Given the description of an element on the screen output the (x, y) to click on. 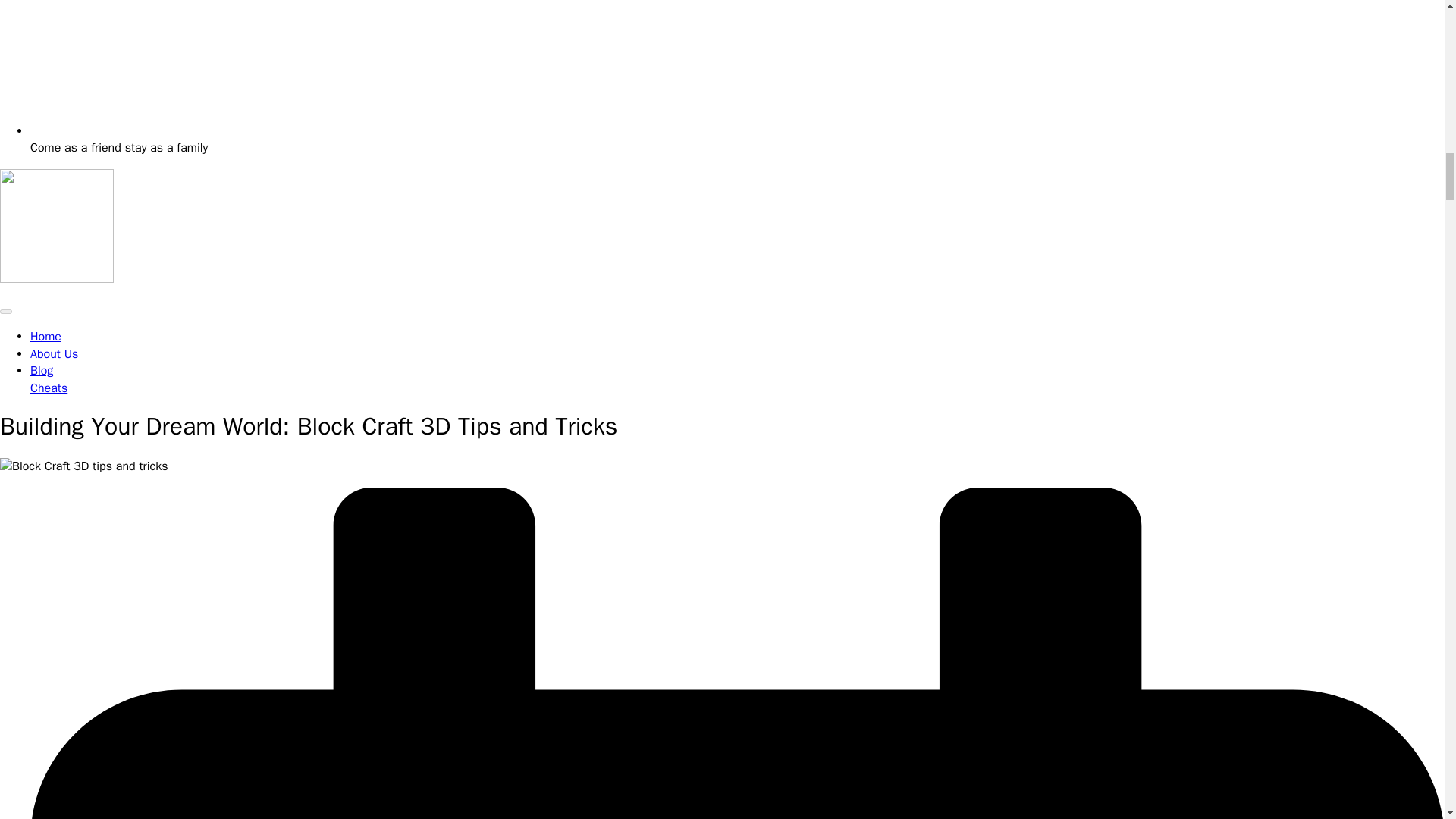
Home (45, 336)
Blog (41, 370)
About Us (54, 353)
Cheats (48, 387)
